Given the description of an element on the screen output the (x, y) to click on. 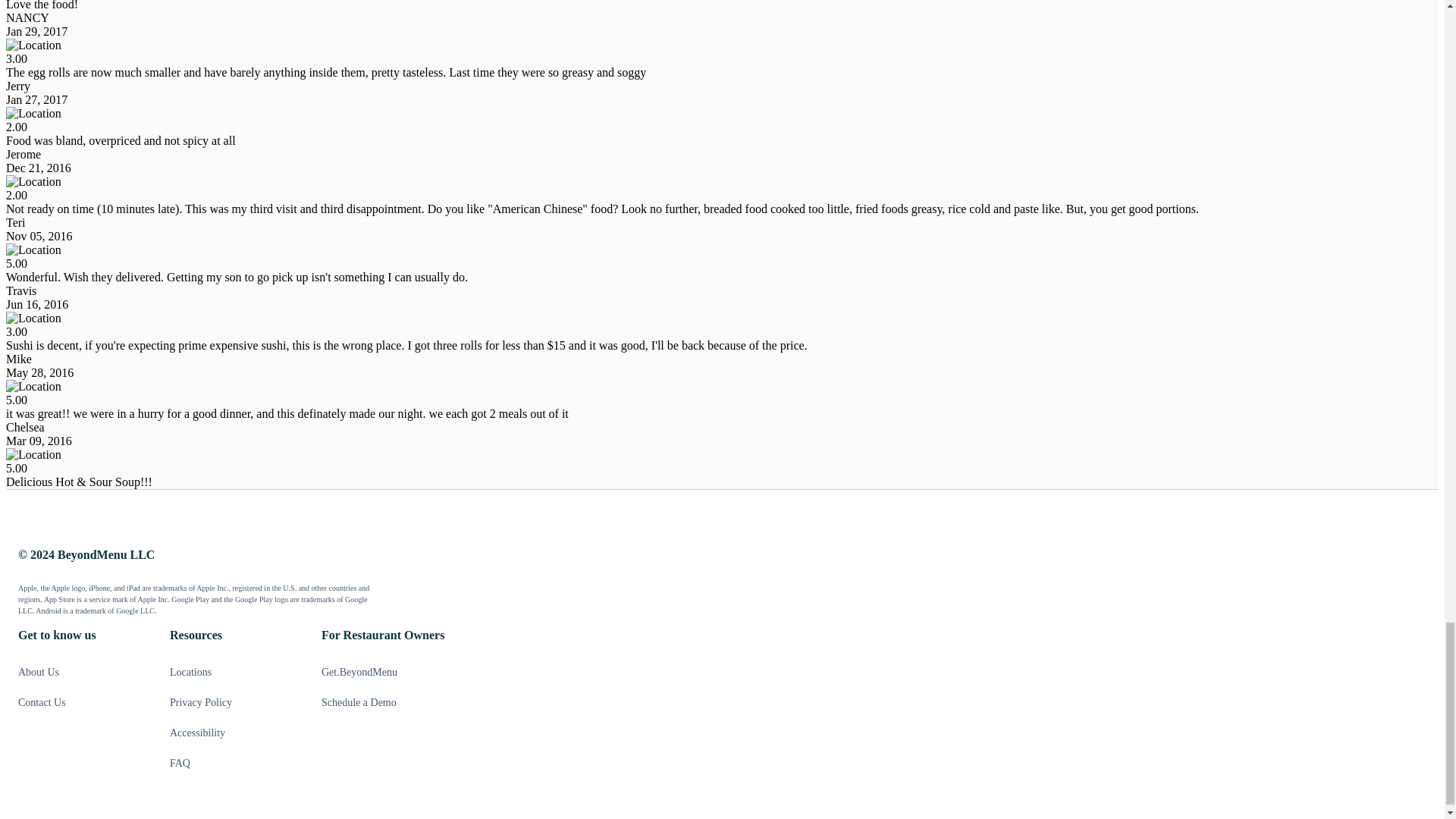
Accessibility (234, 733)
Get.BeyondMenu (385, 672)
Schedule a Demo (385, 702)
Contact Us (82, 702)
About Us (82, 672)
Privacy Policy (234, 702)
FAQ (234, 763)
Locations (234, 672)
